Given the description of an element on the screen output the (x, y) to click on. 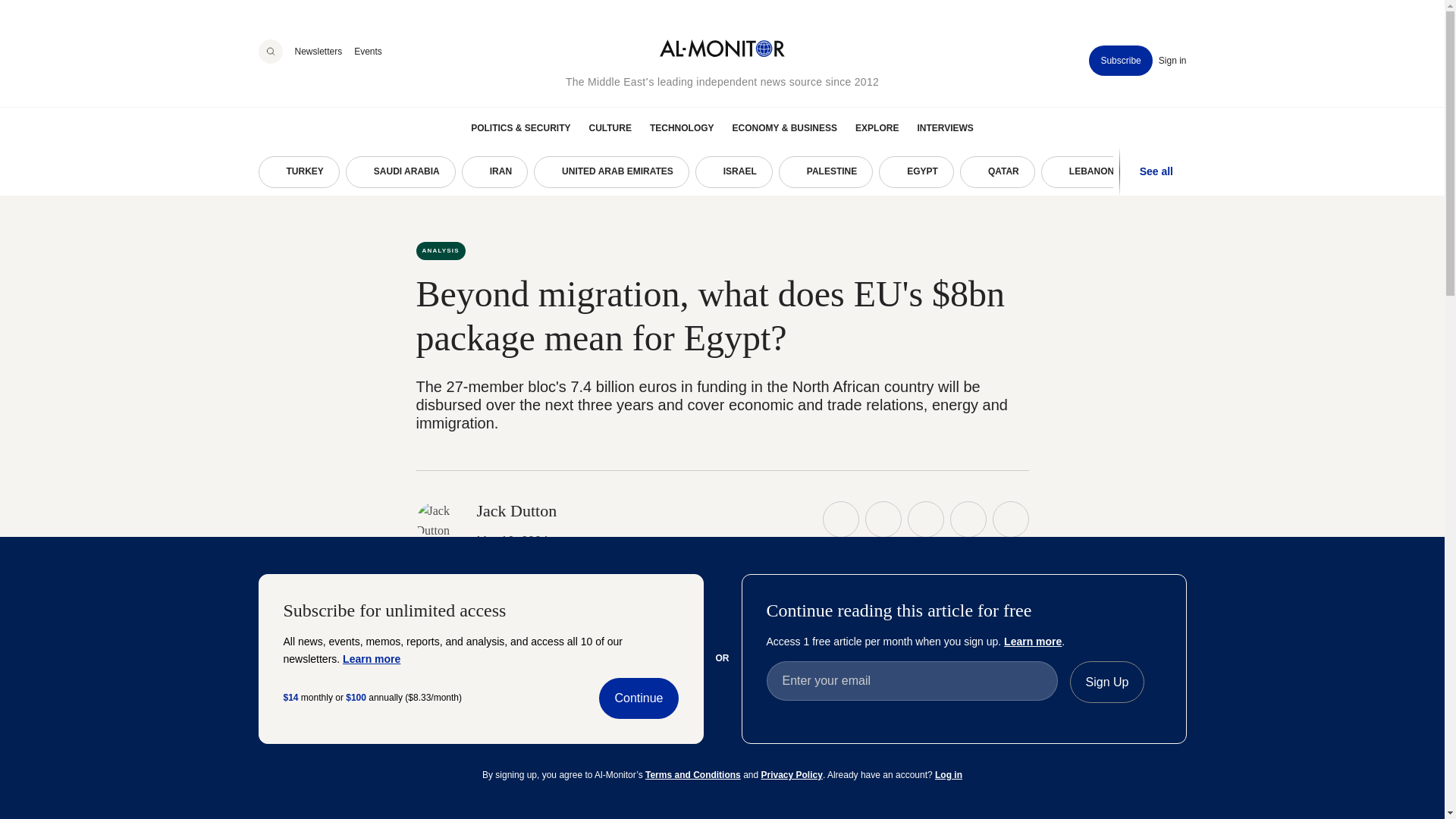
ISRAEL (734, 172)
LEBANON (1085, 172)
Subscribe (1120, 60)
Sign in (1172, 60)
Search and explore Al-Monitor (269, 51)
TURKEY (298, 172)
SAUDI ARABIA (400, 172)
EXPLORE (877, 127)
Newsletters (318, 51)
Sign Up (1106, 681)
